Given the description of an element on the screen output the (x, y) to click on. 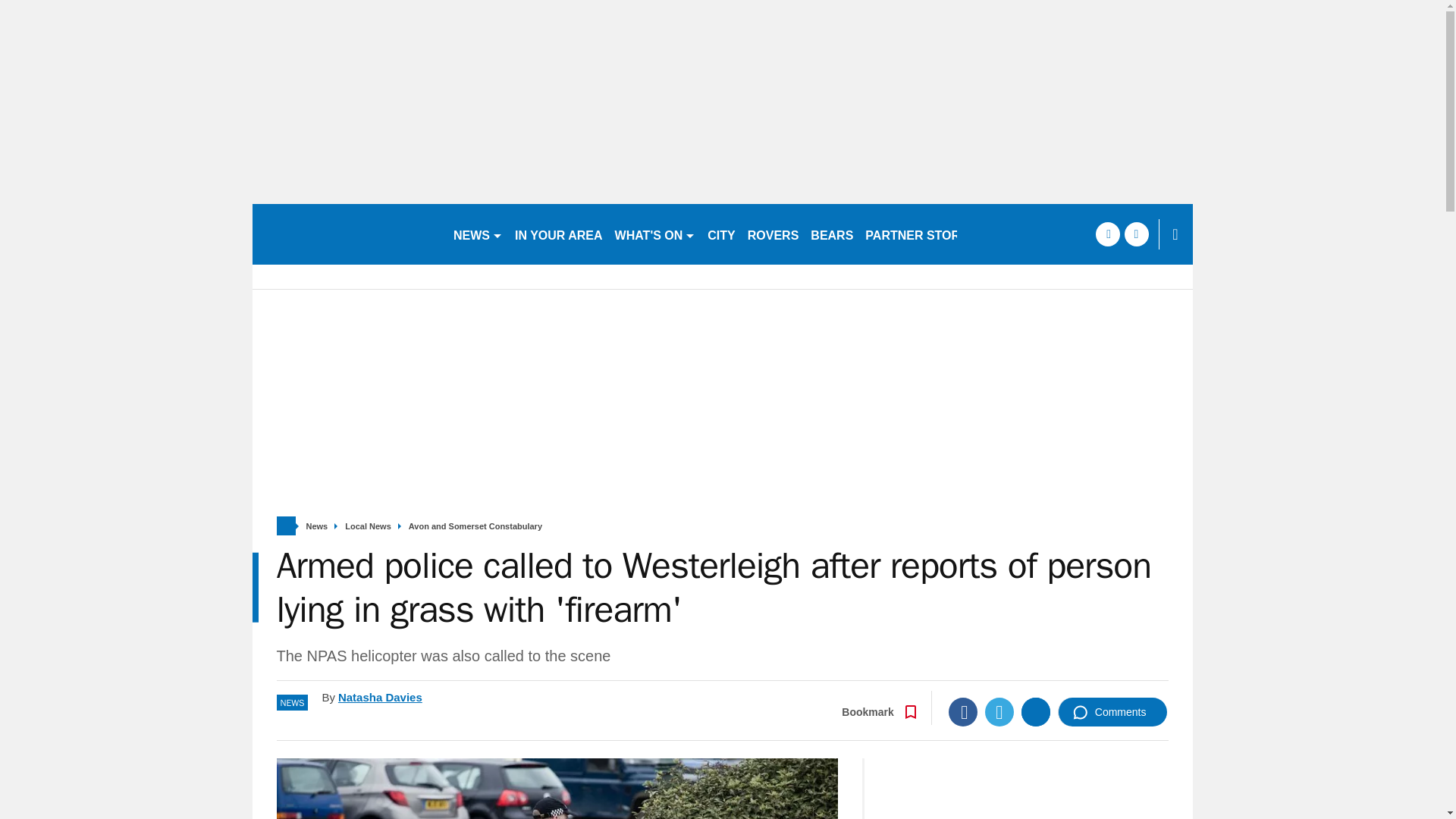
NEWS (477, 233)
twitter (1136, 233)
PARTNER STORIES (922, 233)
WHAT'S ON (654, 233)
Twitter (999, 711)
Facebook (962, 711)
Comments (1112, 711)
BEARS (832, 233)
IN YOUR AREA (558, 233)
facebook (1106, 233)
